Given the description of an element on the screen output the (x, y) to click on. 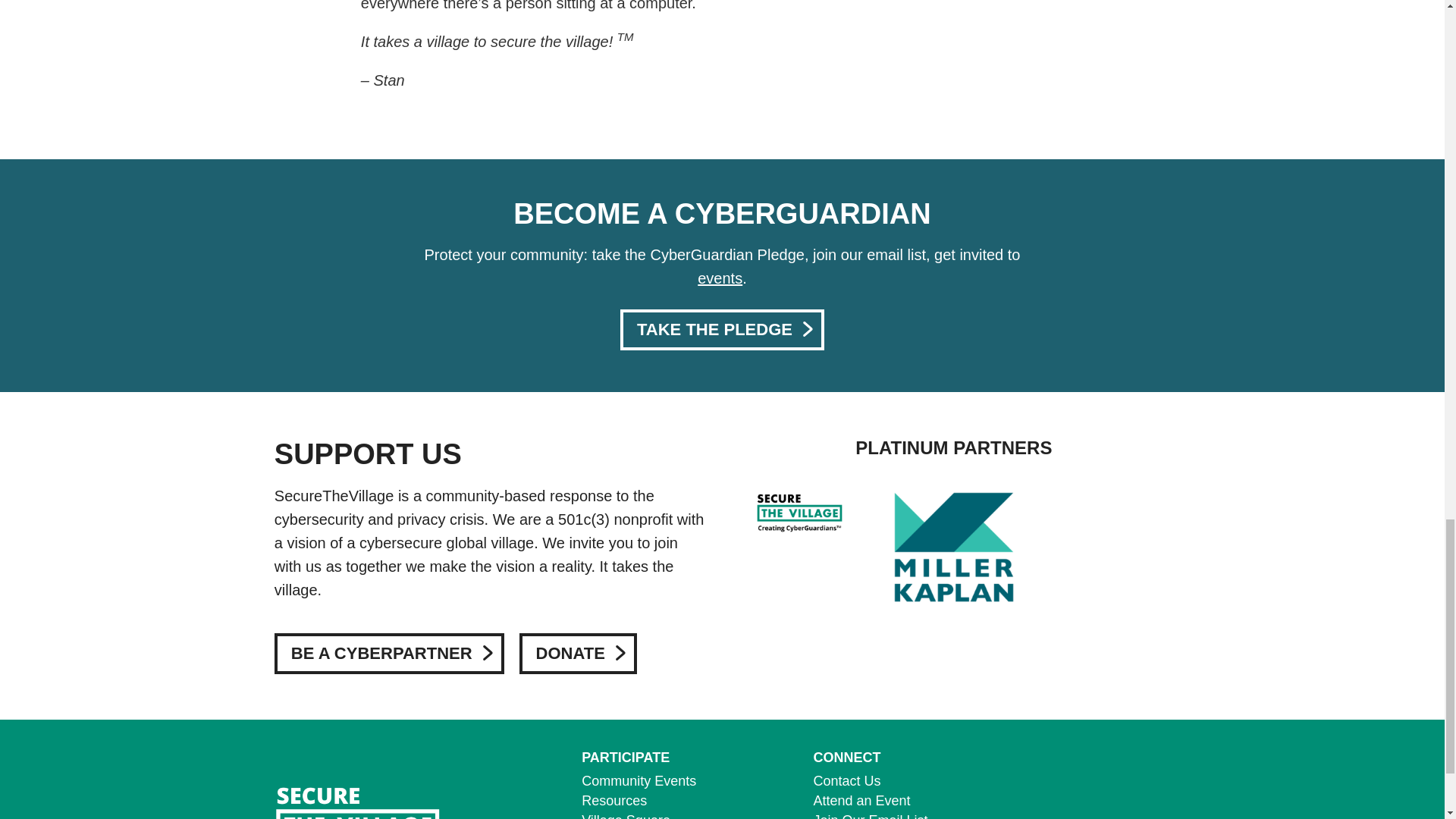
events (719, 278)
